Given the description of an element on the screen output the (x, y) to click on. 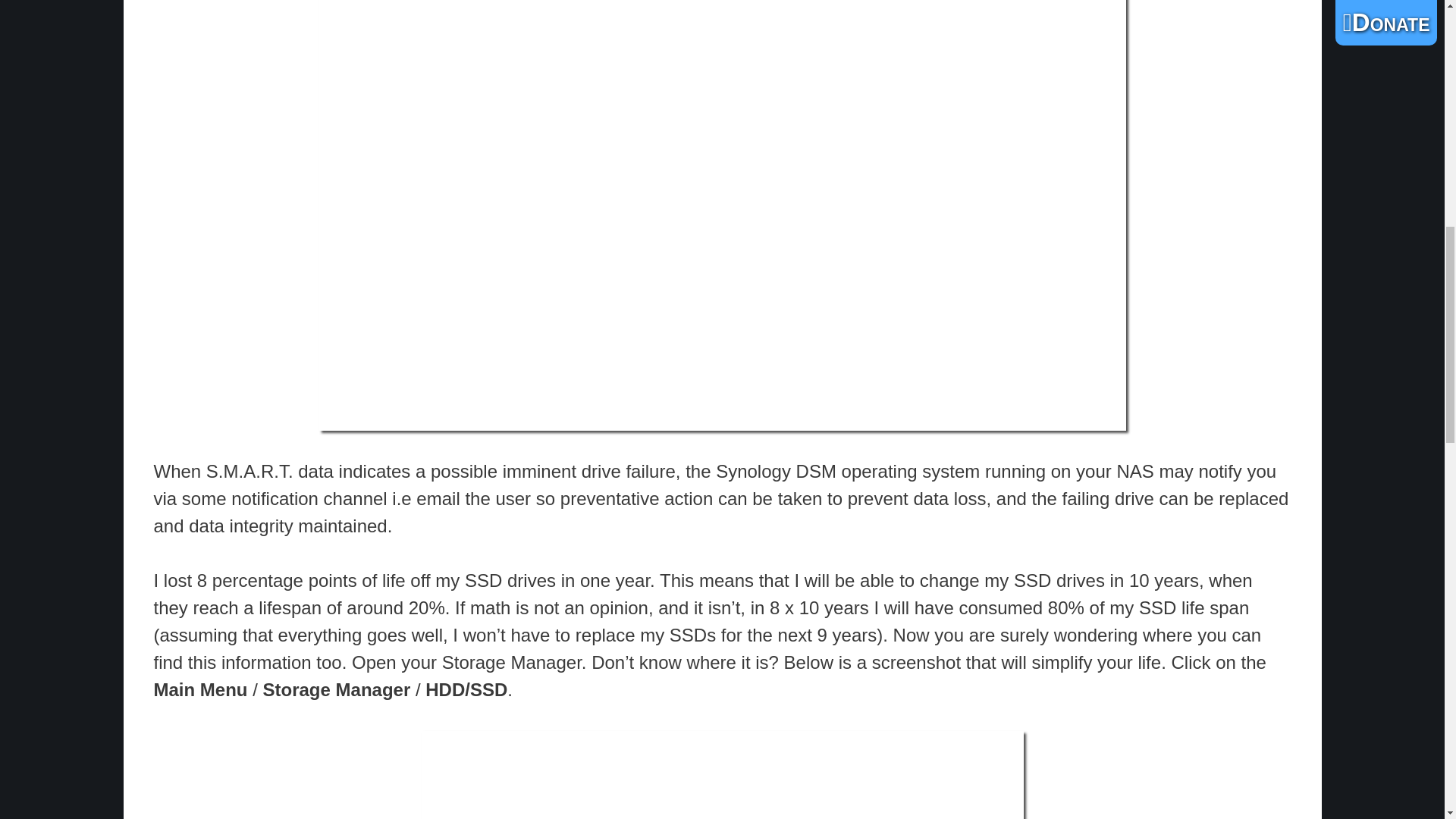
Scroll back to top (1406, 720)
